Given the description of an element on the screen output the (x, y) to click on. 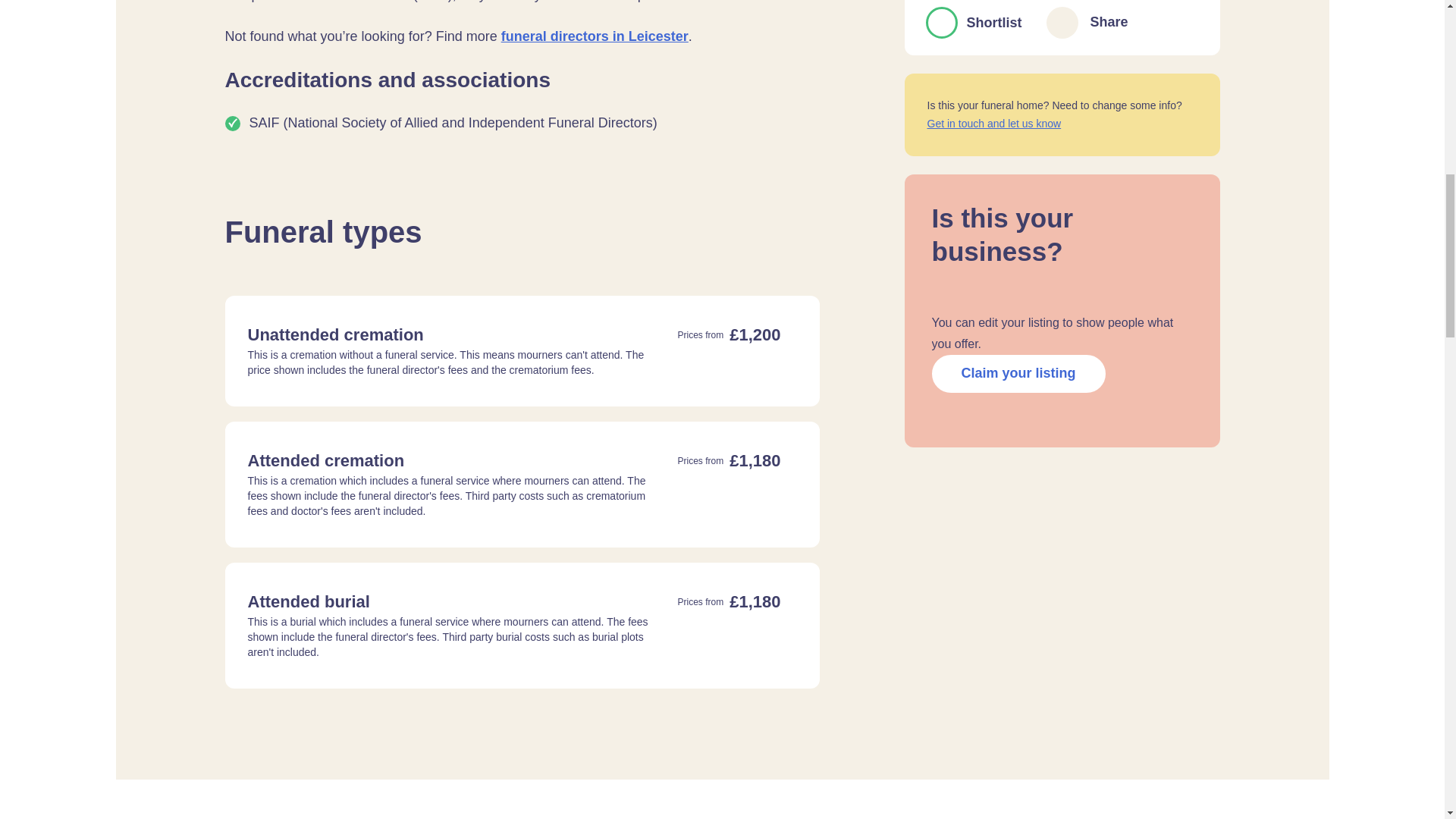
Shortlist (940, 22)
